Given the description of an element on the screen output the (x, y) to click on. 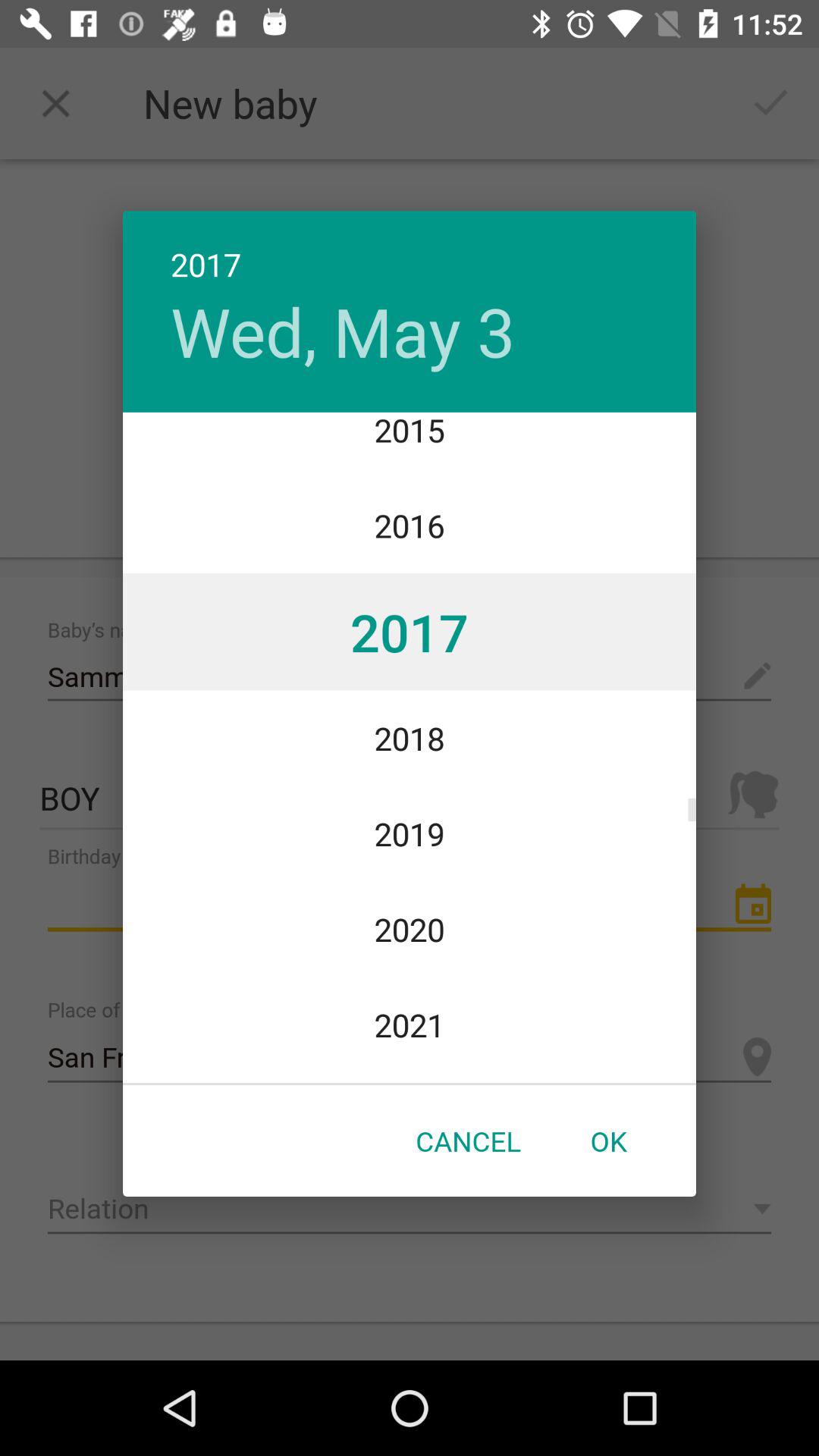
launch item next to cancel icon (608, 1140)
